Given the description of an element on the screen output the (x, y) to click on. 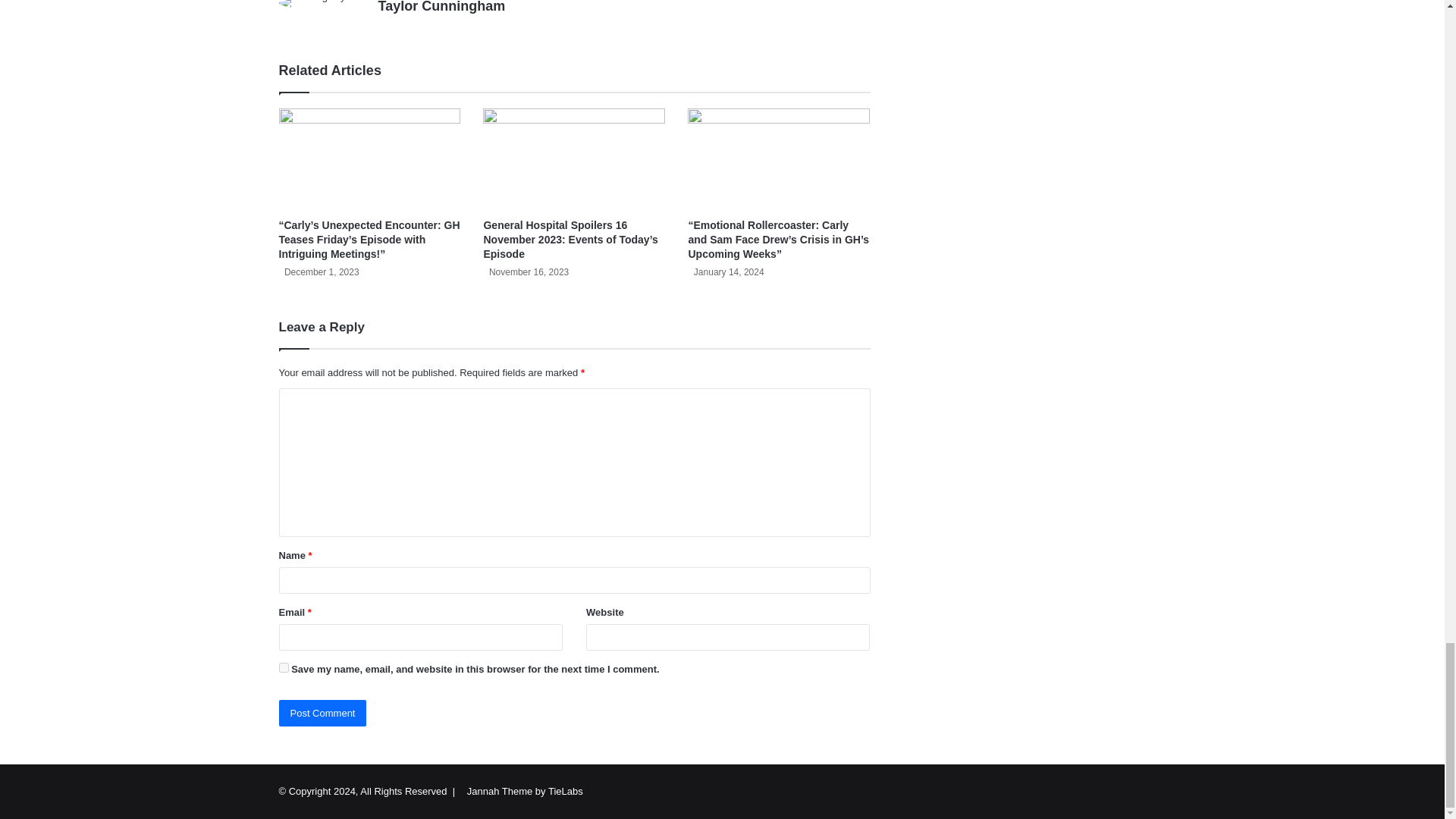
Post Comment (322, 713)
Taylor Cunningham (441, 6)
yes (283, 667)
